Given the description of an element on the screen output the (x, y) to click on. 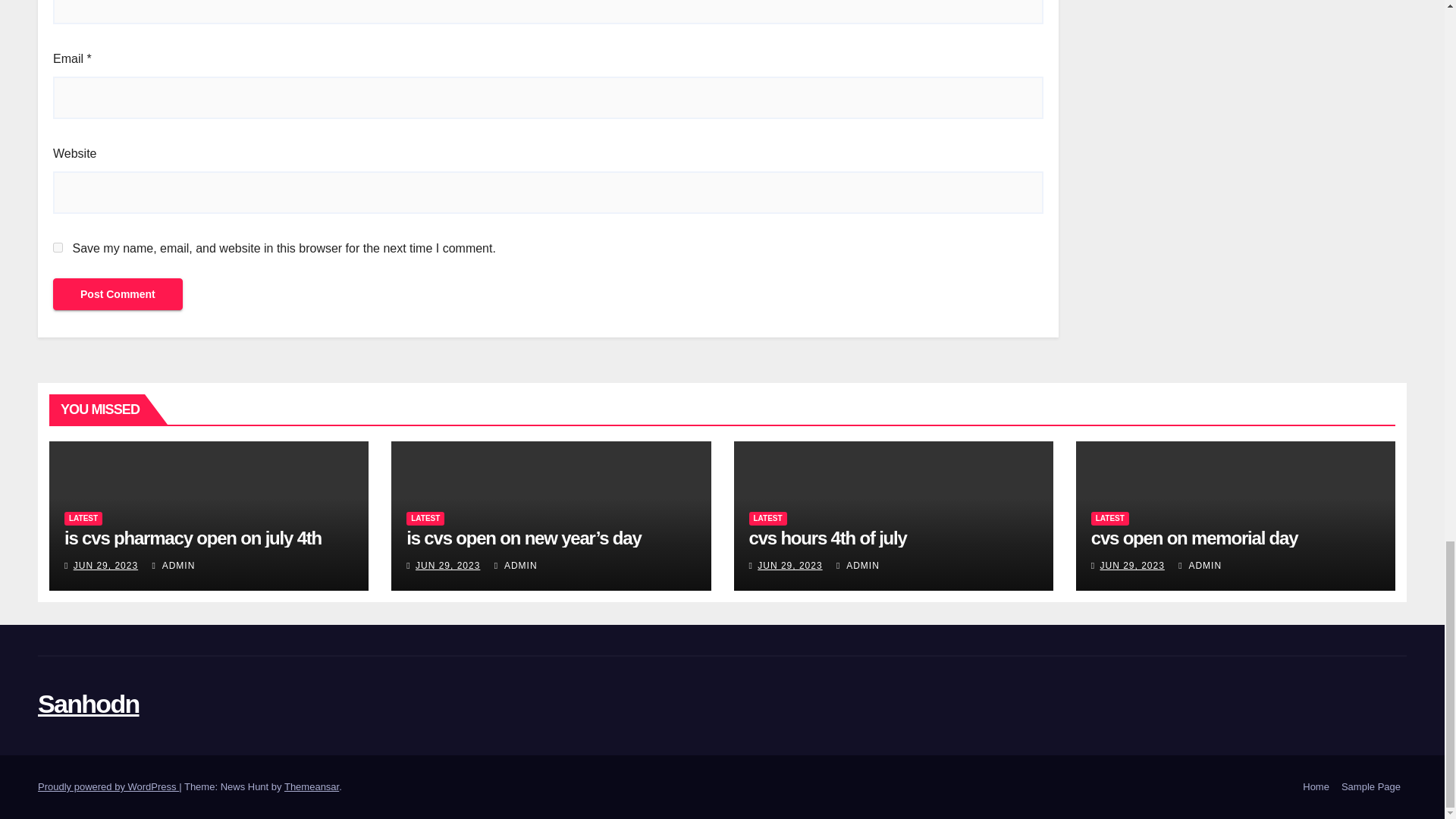
Home (1316, 786)
Post Comment (117, 294)
Permalink to: cvs open on memorial day (1194, 537)
Permalink to: is cvs pharmacy open on july 4th (192, 537)
yes (57, 247)
Post Comment (117, 294)
Permalink to: cvs hours 4th of july (828, 537)
